Given the description of an element on the screen output the (x, y) to click on. 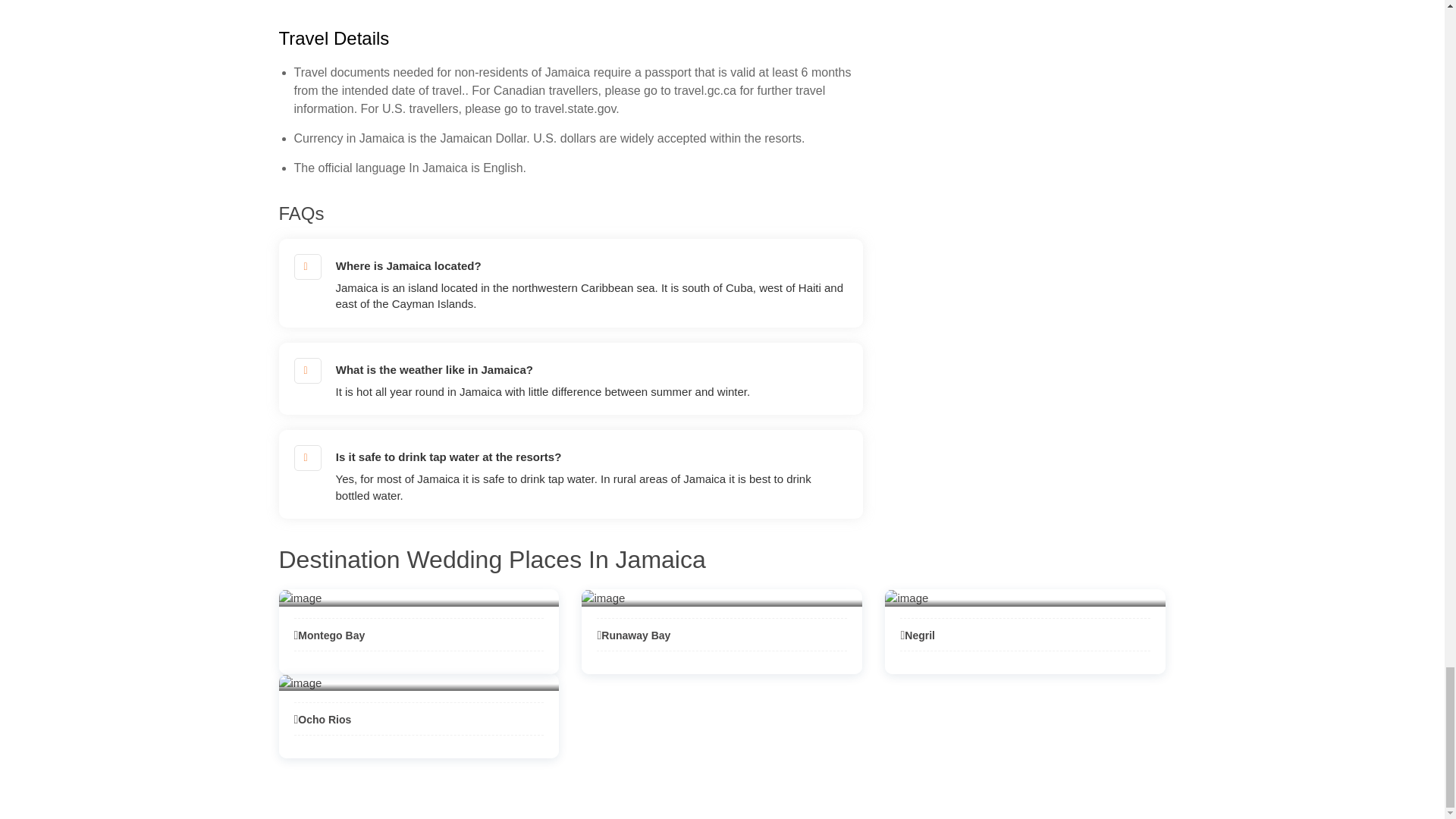
Ocho Rios (323, 719)
Montego Bay (329, 635)
Runaway Bay (632, 635)
Negril (916, 635)
